Given the description of an element on the screen output the (x, y) to click on. 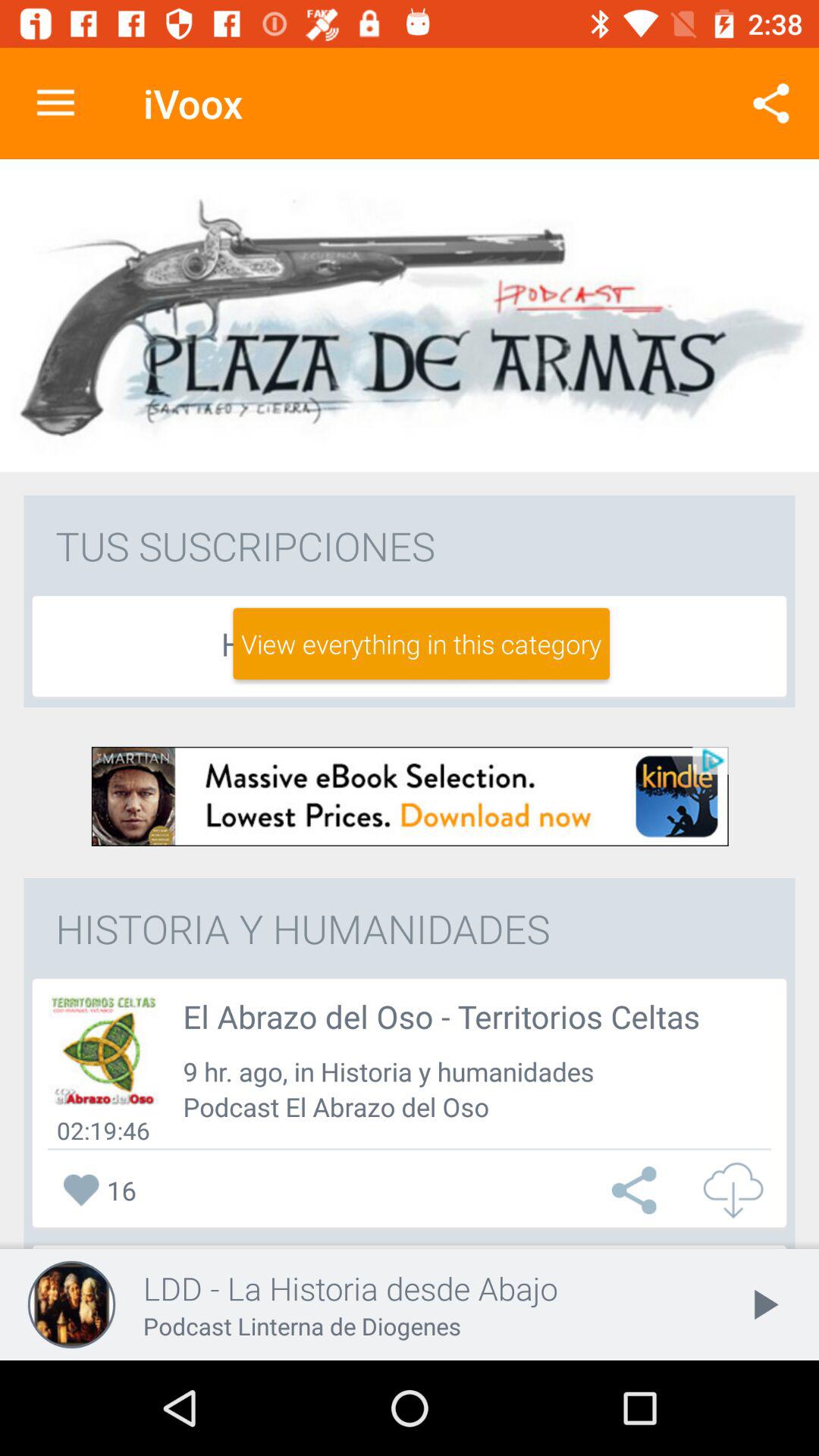
choose this (637, 1190)
